Given the description of an element on the screen output the (x, y) to click on. 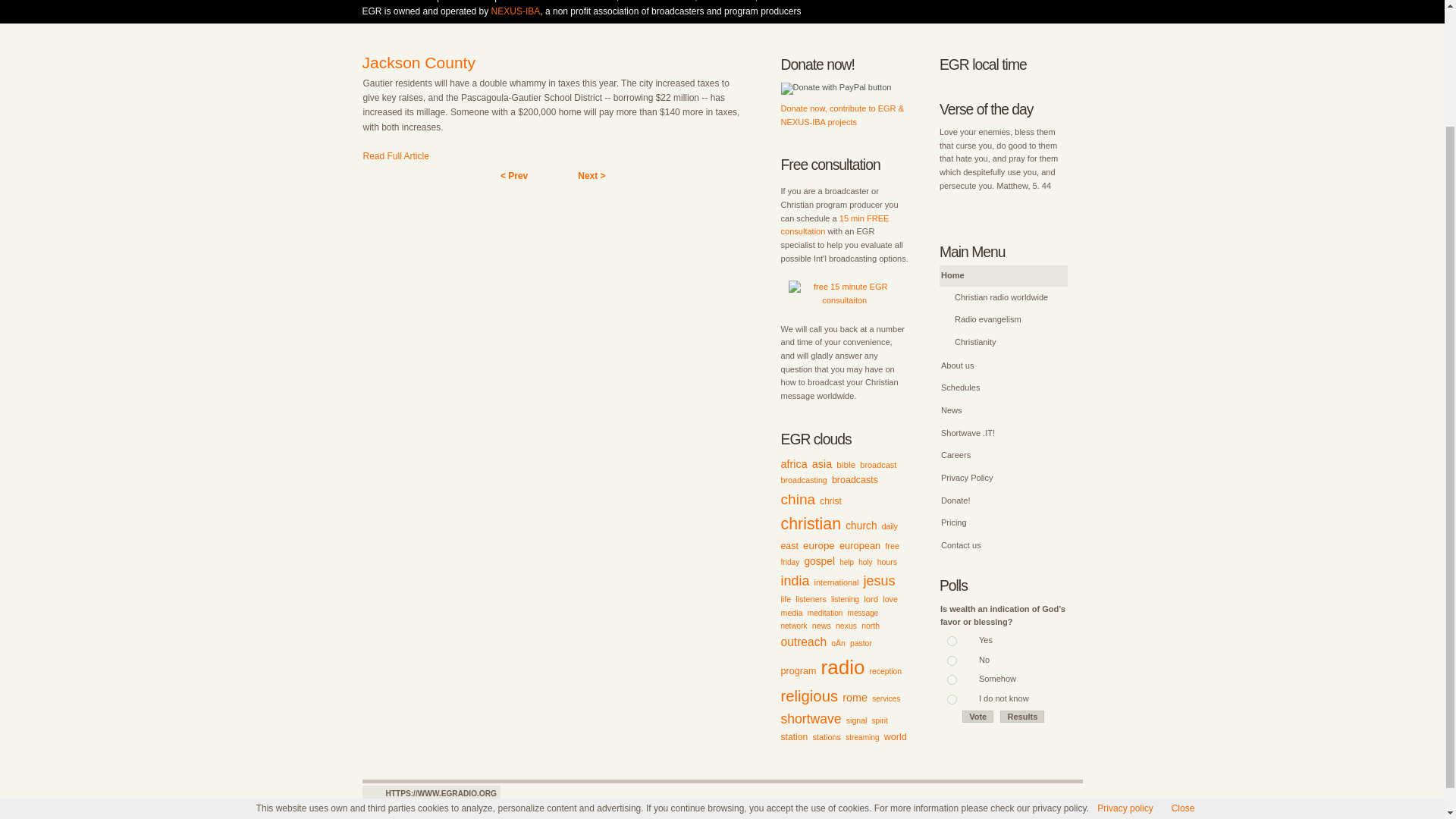
Jackson County (419, 62)
broadcasting (803, 479)
13 (951, 641)
africa (794, 463)
Results (1021, 716)
NEXUS-IBA (516, 10)
15 (951, 679)
bible (845, 464)
broadcast (878, 464)
broadcasts (854, 480)
